Given the description of an element on the screen output the (x, y) to click on. 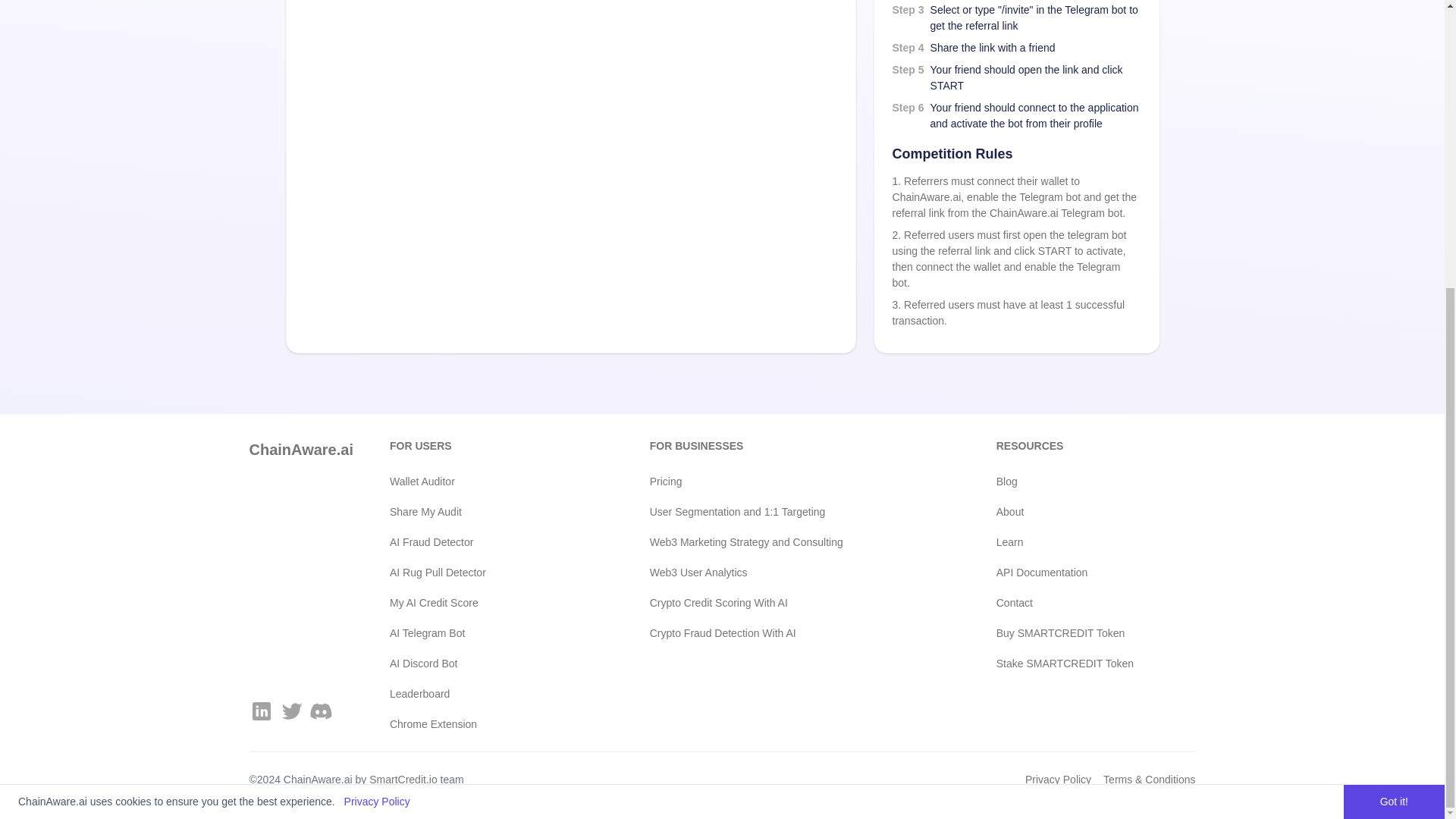
My AI Credit Score (489, 603)
About (1095, 511)
AI Telegram Bot (489, 633)
User Segmentation and 1:1 Targeting (792, 511)
Leaderboard (489, 693)
Chrome Extension (489, 724)
Web3 Marketing Strategy and Consulting (792, 542)
AI Discord Bot (489, 663)
ChainAware.ai (300, 449)
Privacy Policy (376, 365)
